Given the description of an element on the screen output the (x, y) to click on. 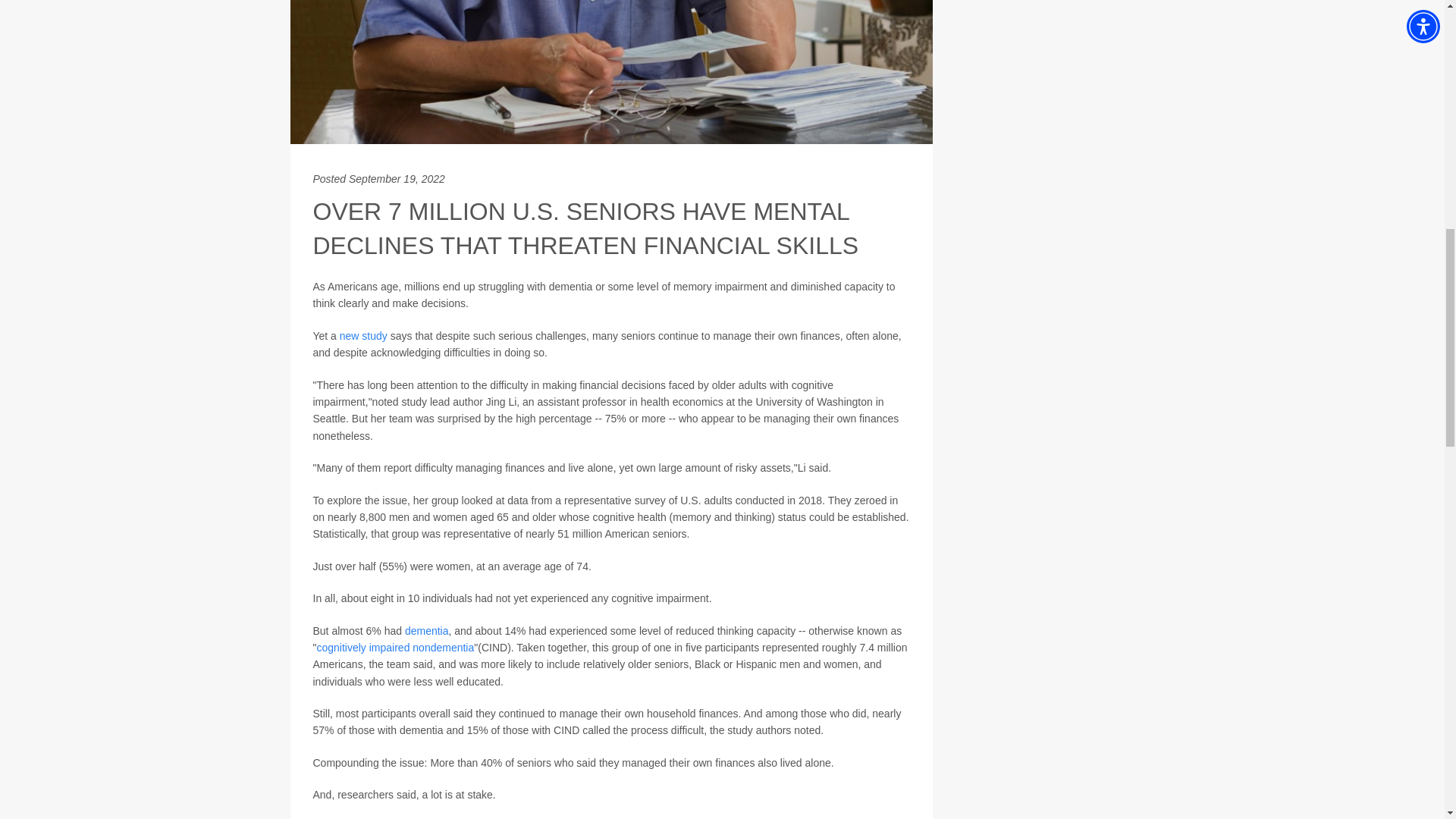
new study (363, 336)
dementia (426, 630)
cognitively impaired nondementia (394, 647)
